Given the description of an element on the screen output the (x, y) to click on. 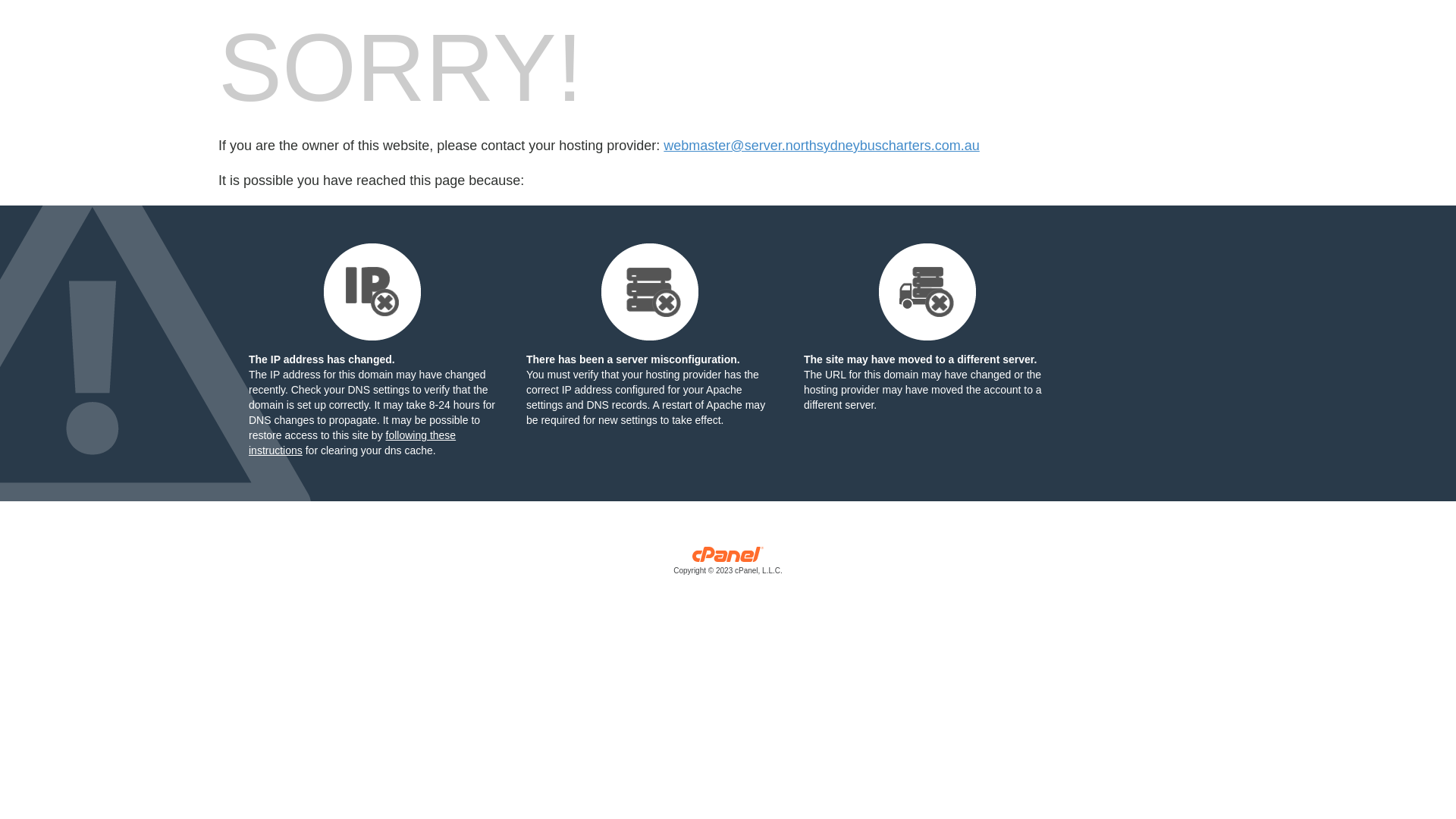
following these instructions Element type: text (351, 442)
webmaster@server.northsydneybuscharters.com.au Element type: text (821, 145)
